Given the description of an element on the screen output the (x, y) to click on. 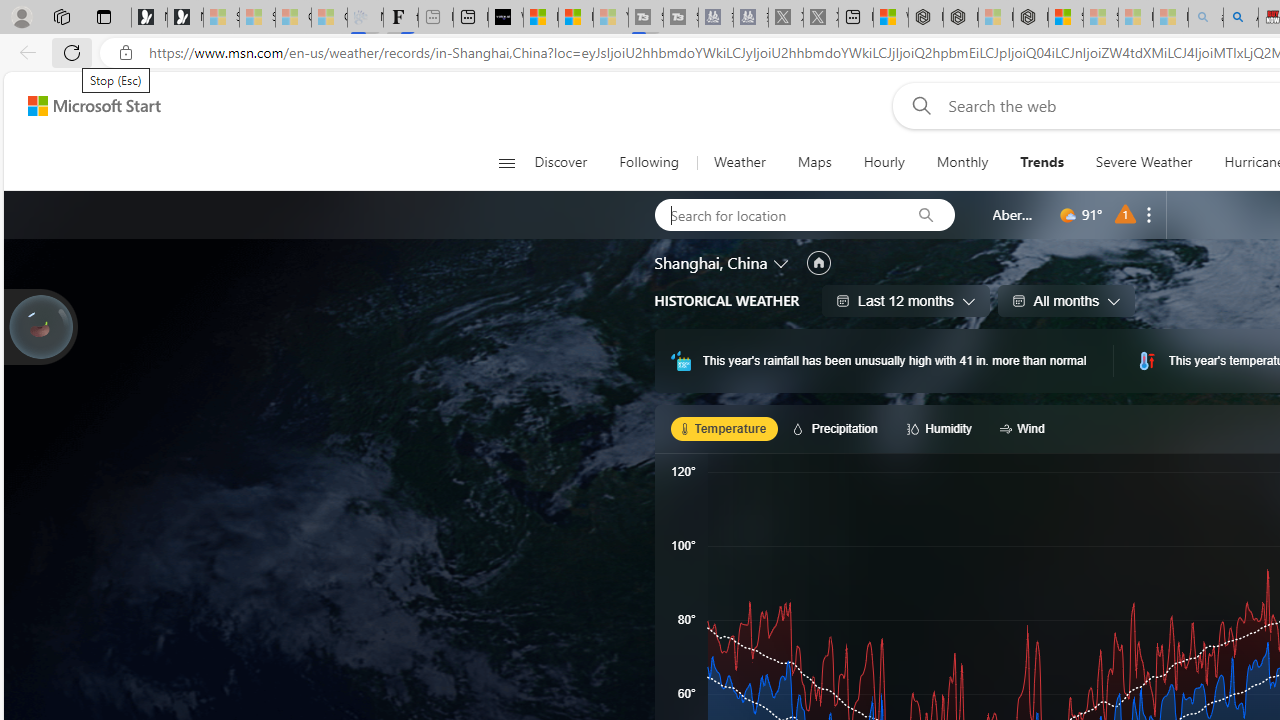
Humidity (942, 428)
Skip to footer (82, 105)
Maps (813, 162)
Join us in planting real trees to help our planet! (40, 327)
Discover (560, 162)
Search for location (776, 214)
Wind (1025, 428)
Weather (739, 162)
Following (649, 162)
Last 12 months (905, 300)
Weather (738, 162)
